Given the description of an element on the screen output the (x, y) to click on. 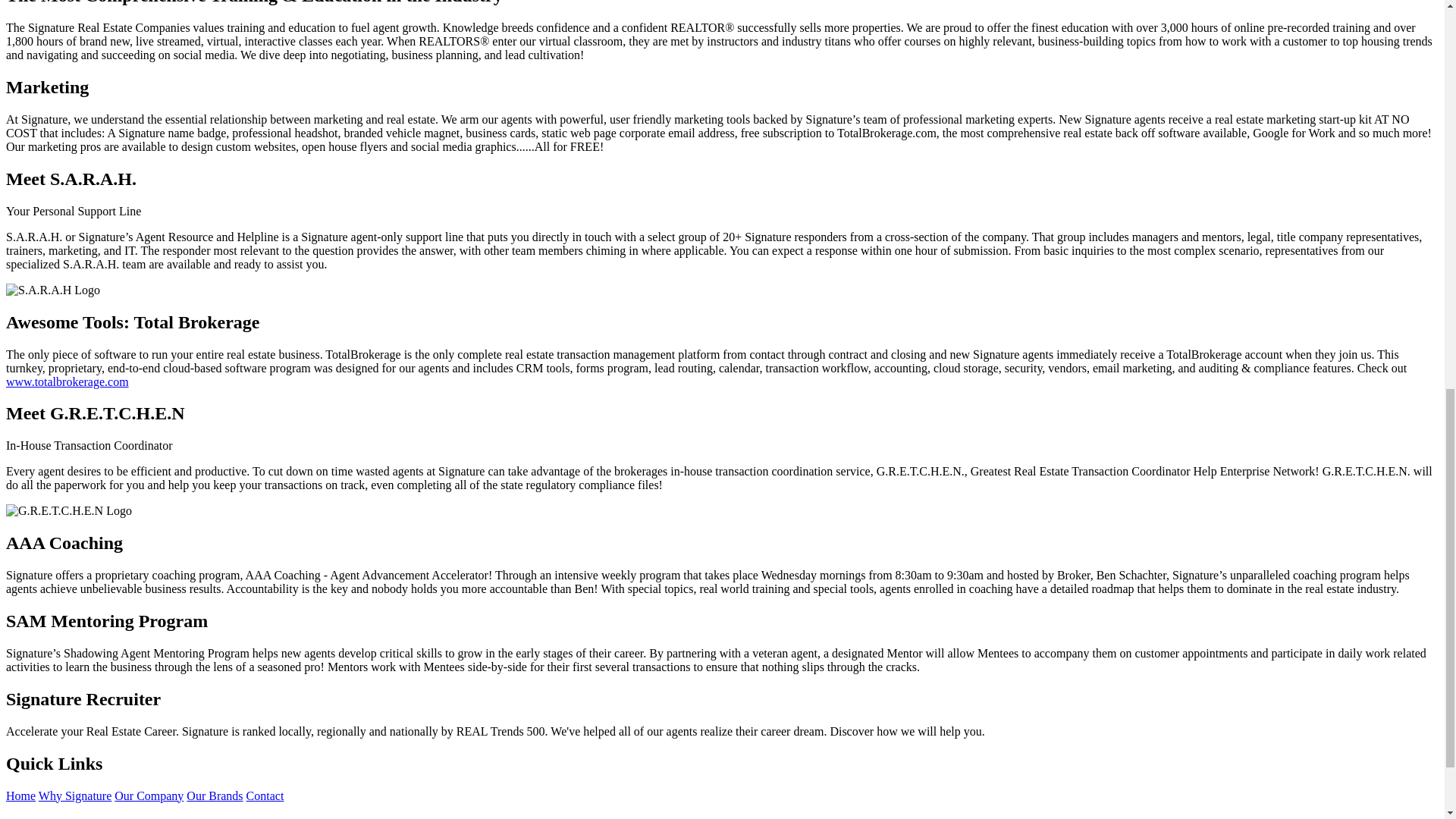
Our Brands (214, 795)
Why Signature (75, 795)
www.totalbrokerage.com (67, 380)
Contact (264, 795)
Home (19, 795)
Our Company (149, 795)
